Given the description of an element on the screen output the (x, y) to click on. 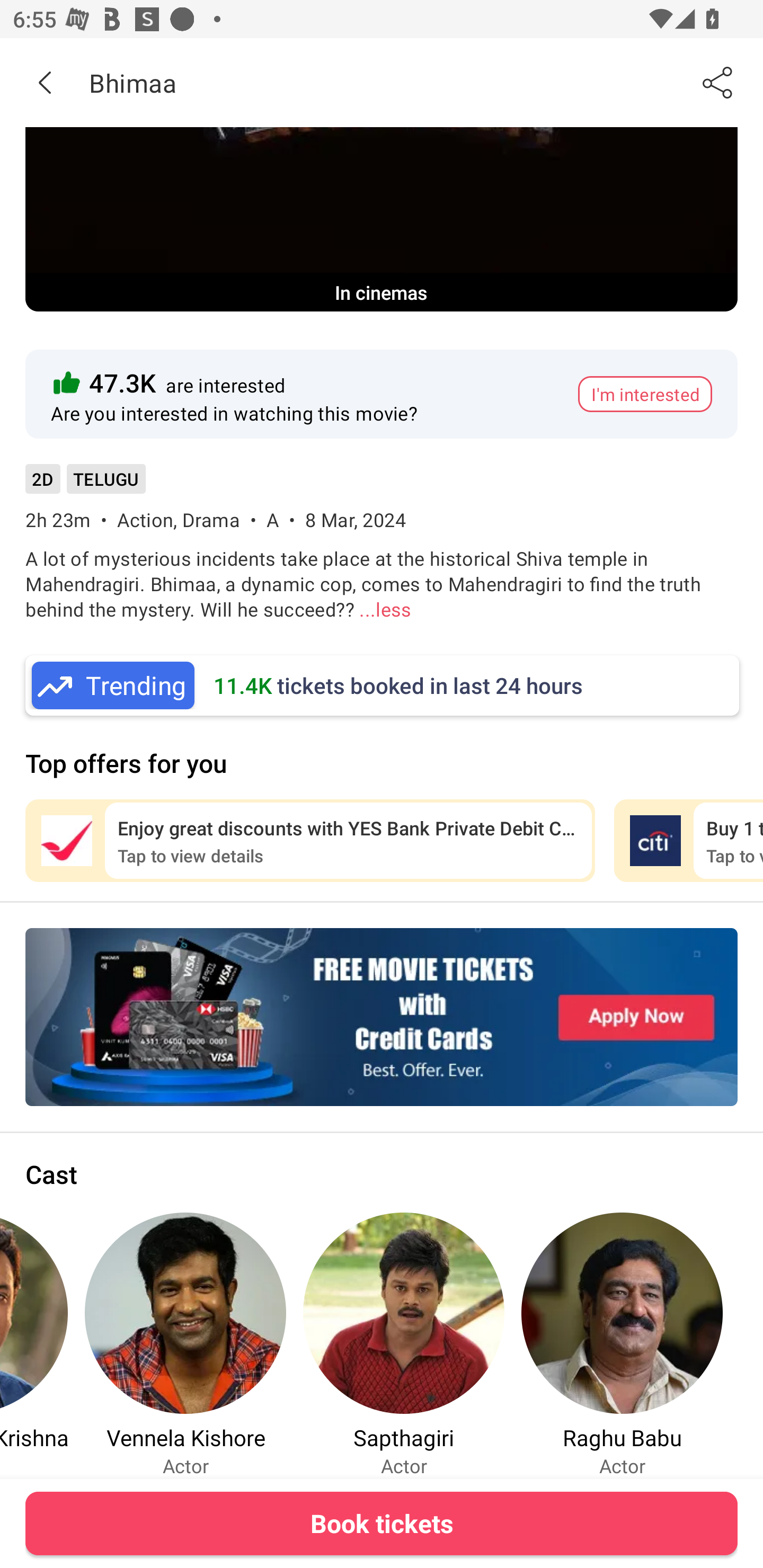
Back (44, 82)
Share (718, 82)
Movie Banner In cinemas (381, 219)
I'm interested (644, 394)
2D TELUGU (85, 485)
Vennela Kishore Actor (185, 1344)
Sapthagiri Actor (403, 1344)
Raghu Babu Actor (621, 1344)
Book tickets (381, 1523)
